Given the description of an element on the screen output the (x, y) to click on. 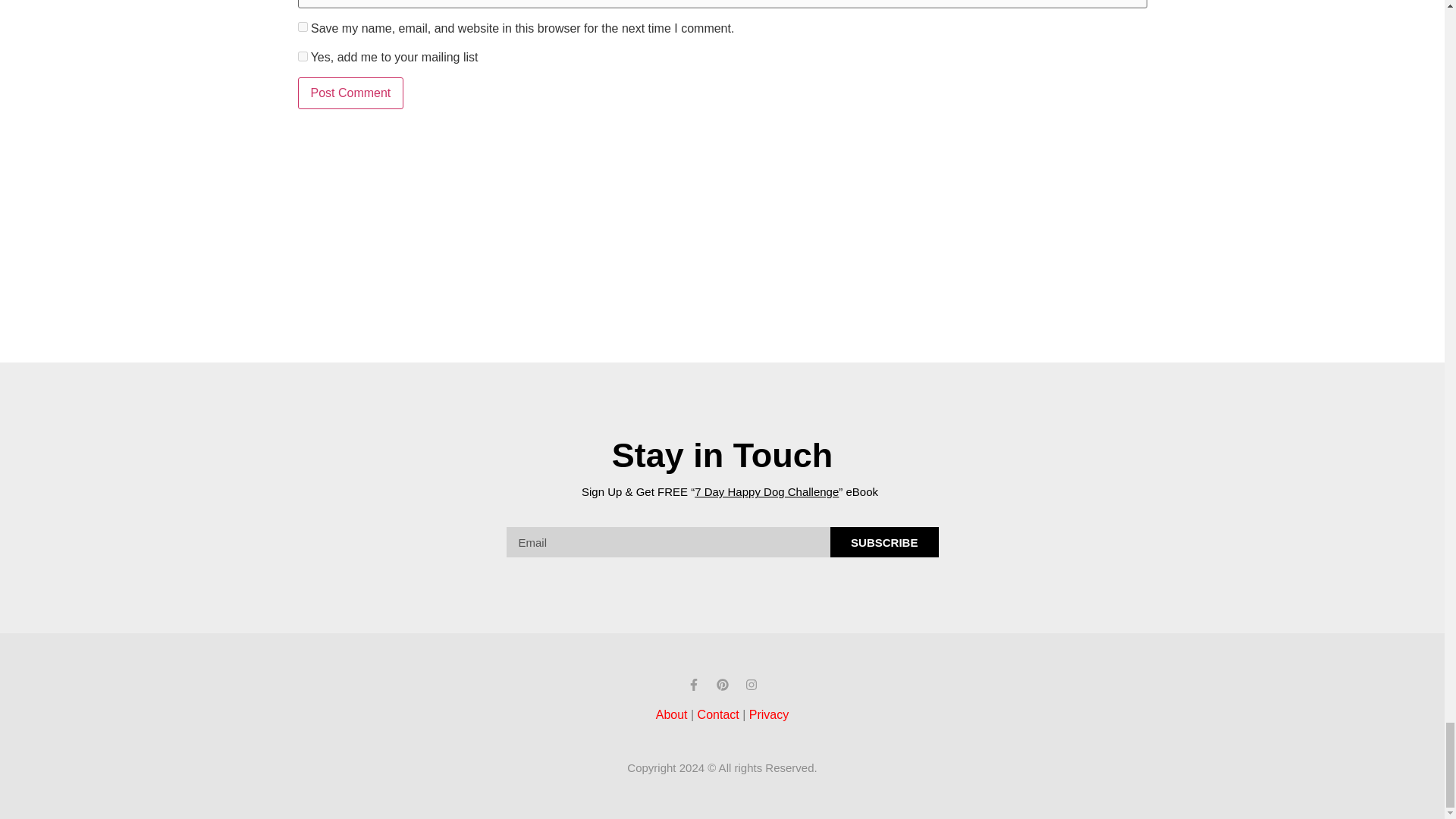
Post Comment (350, 92)
yes (302, 26)
1 (302, 56)
